Given the description of an element on the screen output the (x, y) to click on. 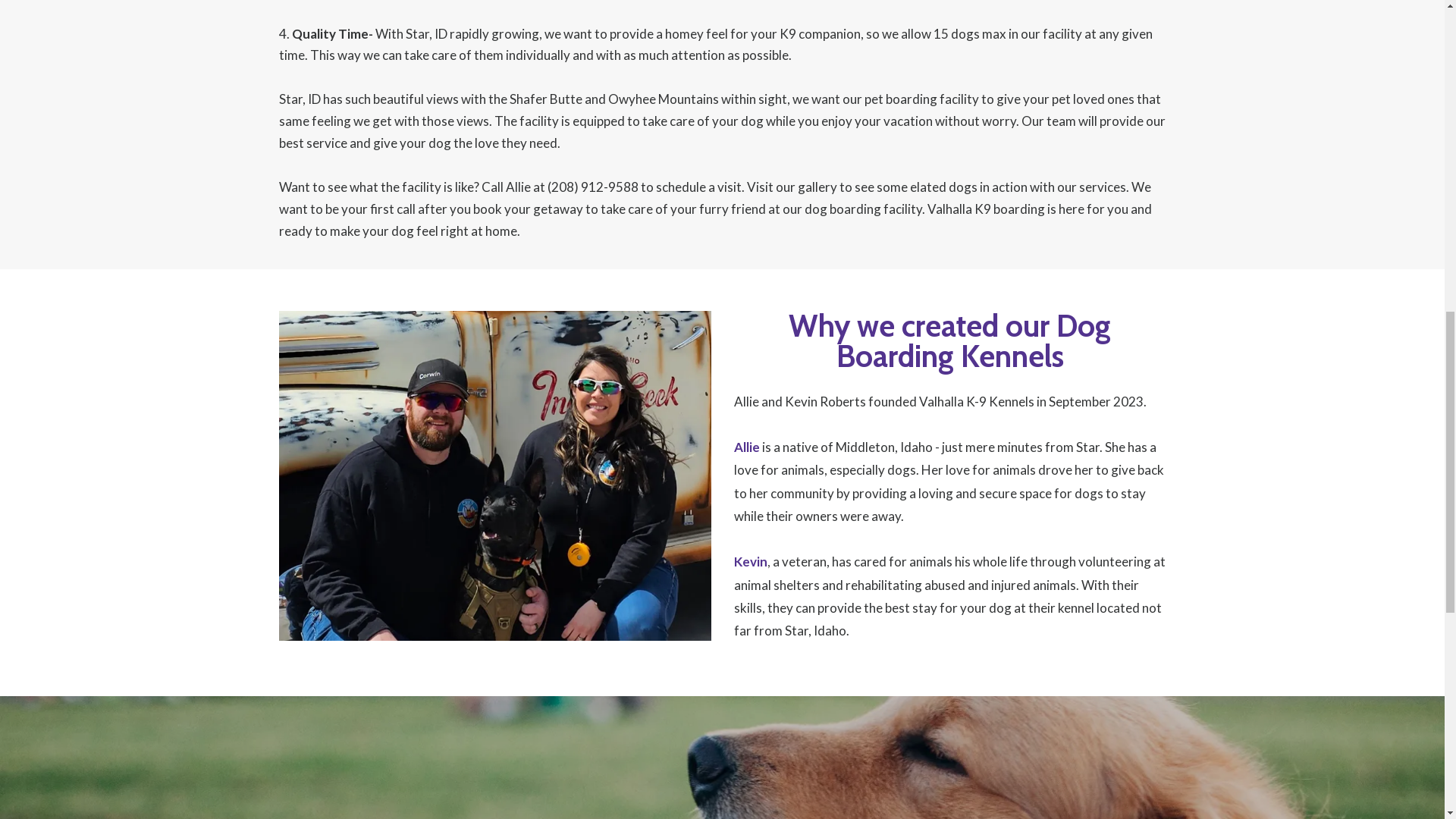
gallery (817, 186)
Allie and Kevin Roberts (799, 400)
